Given the description of an element on the screen output the (x, y) to click on. 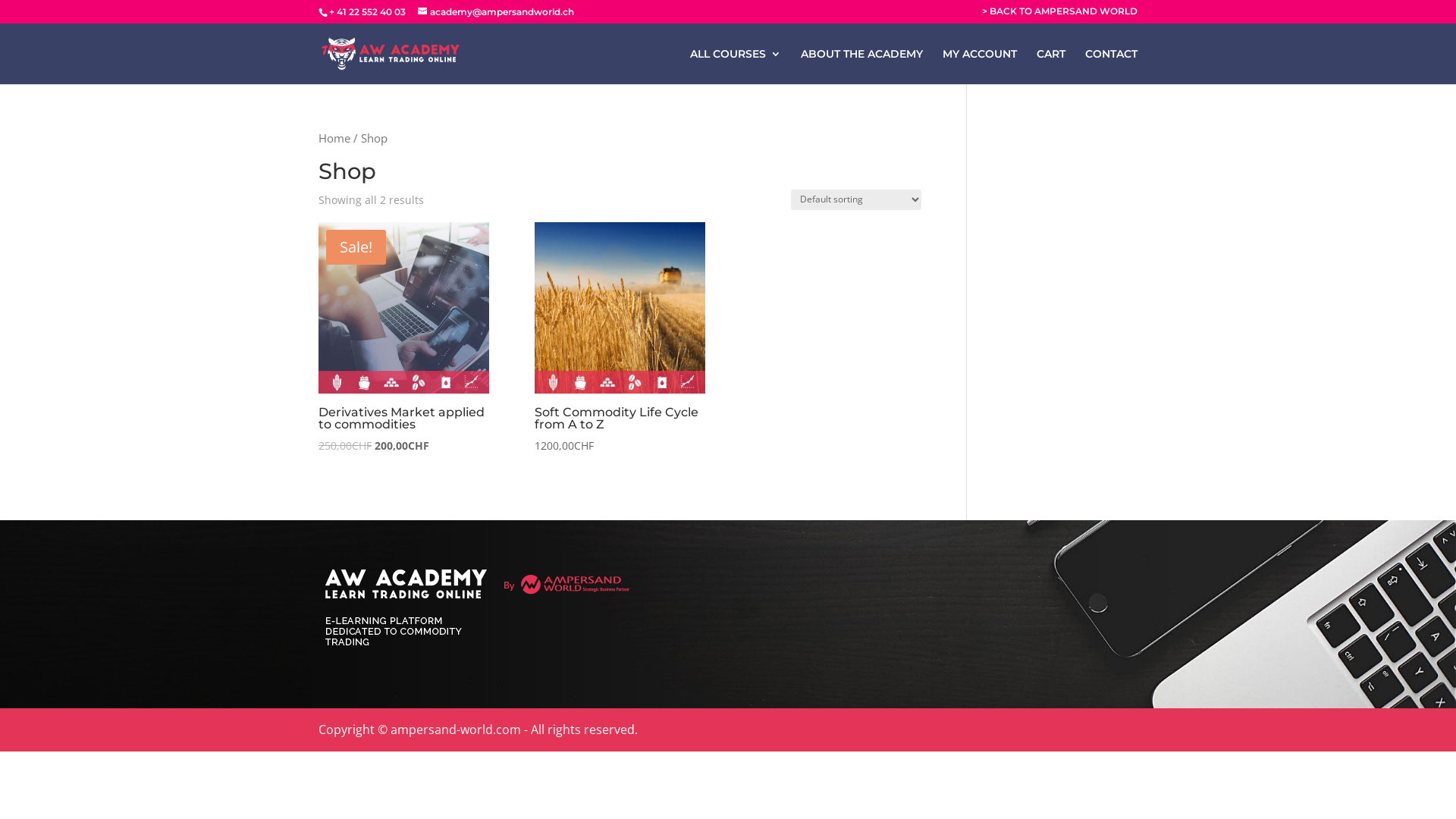
ALL COURSES Element type: text (735, 66)
CART Element type: text (1050, 66)
> BACK TO AMPERSAND WORLD Element type: text (1059, 14)
ABOUT THE ACADEMY Element type: text (861, 66)
CONTACT Element type: text (1111, 66)
MY ACCOUNT Element type: text (979, 66)
Soft Commodity Life Cycle from A to Z
1200,00CHF Element type: text (619, 338)
Home Element type: text (334, 137)
academy@ampersandworld.ch Element type: text (495, 11)
